Given the description of an element on the screen output the (x, y) to click on. 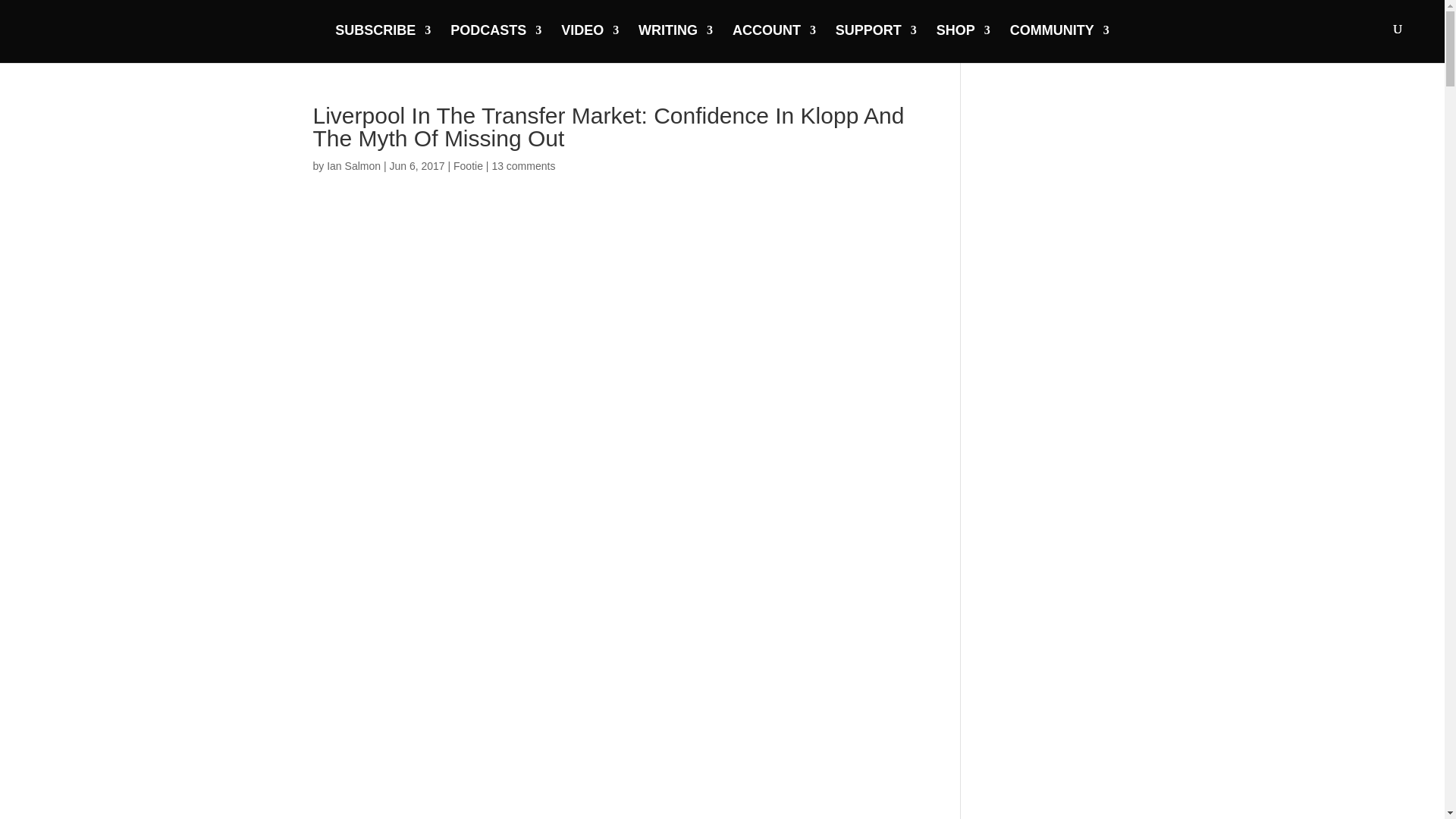
ACCOUNT (773, 42)
COMMUNITY (1059, 42)
SUBSCRIBE (382, 42)
VIDEO (589, 42)
SHOP (963, 42)
PODCASTS (495, 42)
Posts by Ian Salmon (353, 165)
WRITING (676, 42)
SUPPORT (876, 42)
